Given the description of an element on the screen output the (x, y) to click on. 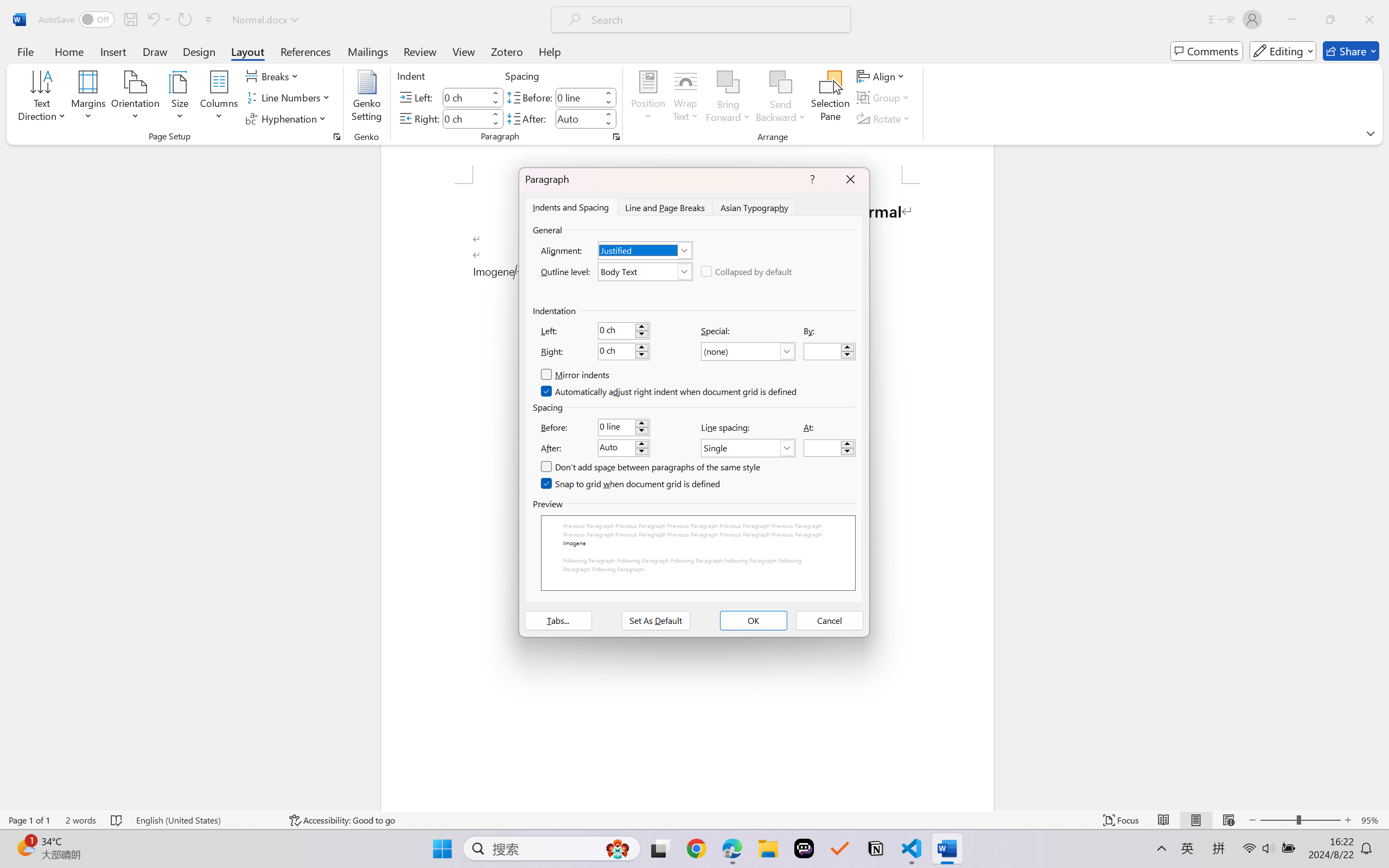
Page Setup... (336, 136)
Poe (804, 848)
Undo Paragraph Formatting (158, 19)
Cancel (829, 620)
